Given the description of an element on the screen output the (x, y) to click on. 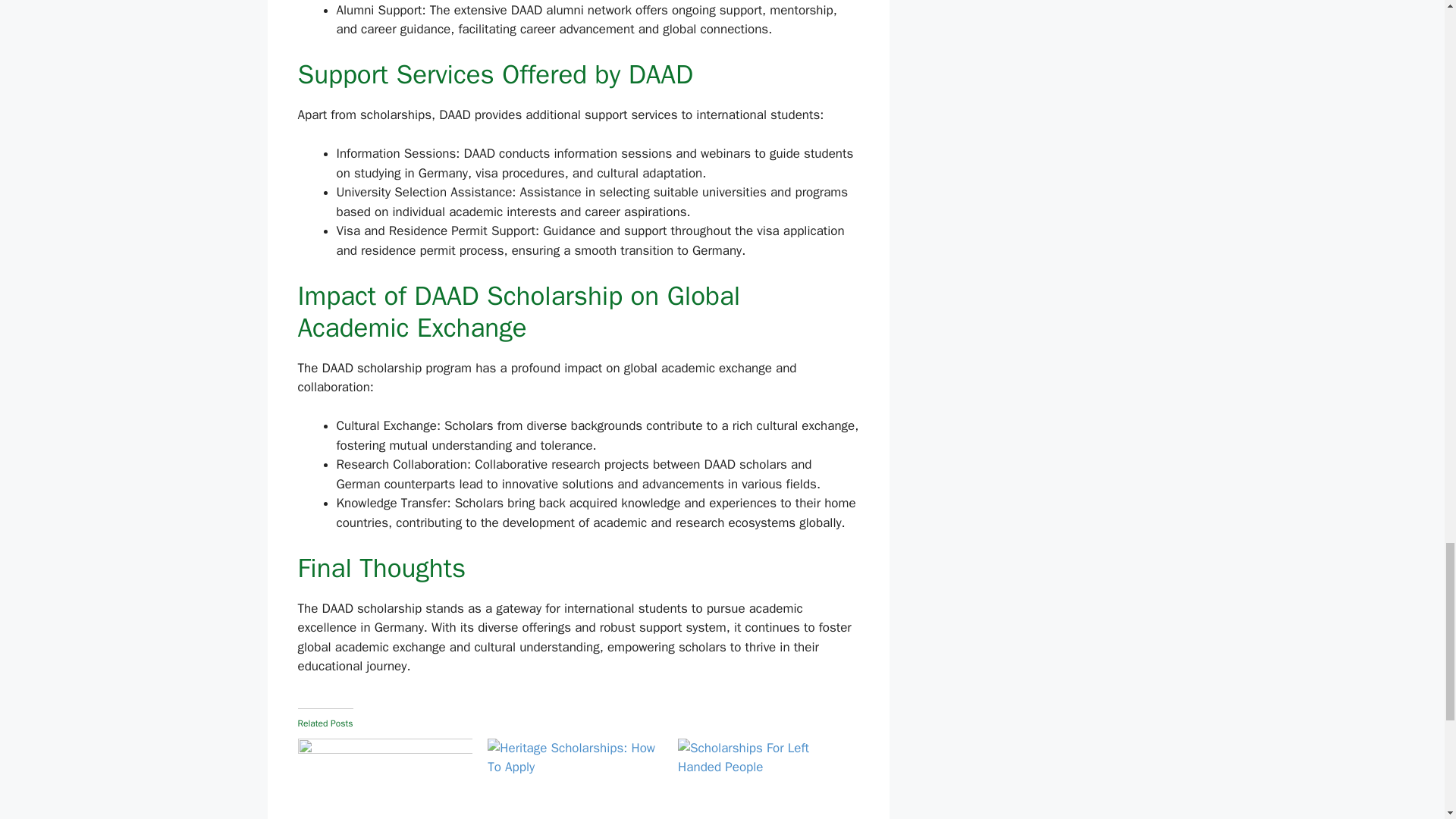
6 Education Scholarships for Nigerian Masters Student (384, 778)
Heritage Scholarships: How To Apply (574, 778)
Scholarships For Left Handed People (765, 778)
